Given the description of an element on the screen output the (x, y) to click on. 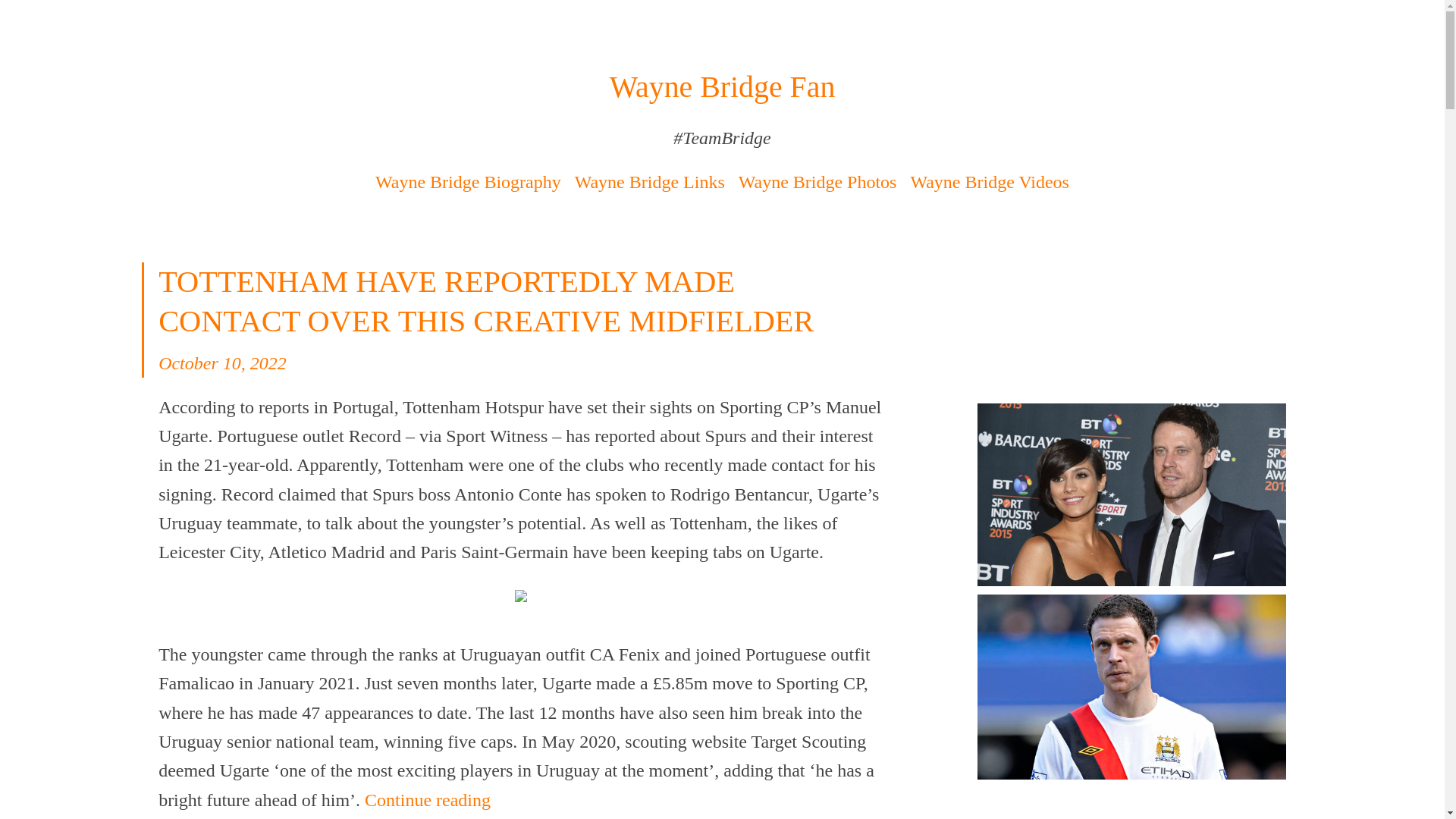
Wayne Bridge Links (650, 181)
Wayne Bridge Biography (467, 181)
Wayne Bridge Videos (989, 181)
Wayne Bridge Photos (817, 181)
October 10, 2022 (222, 362)
